Given the description of an element on the screen output the (x, y) to click on. 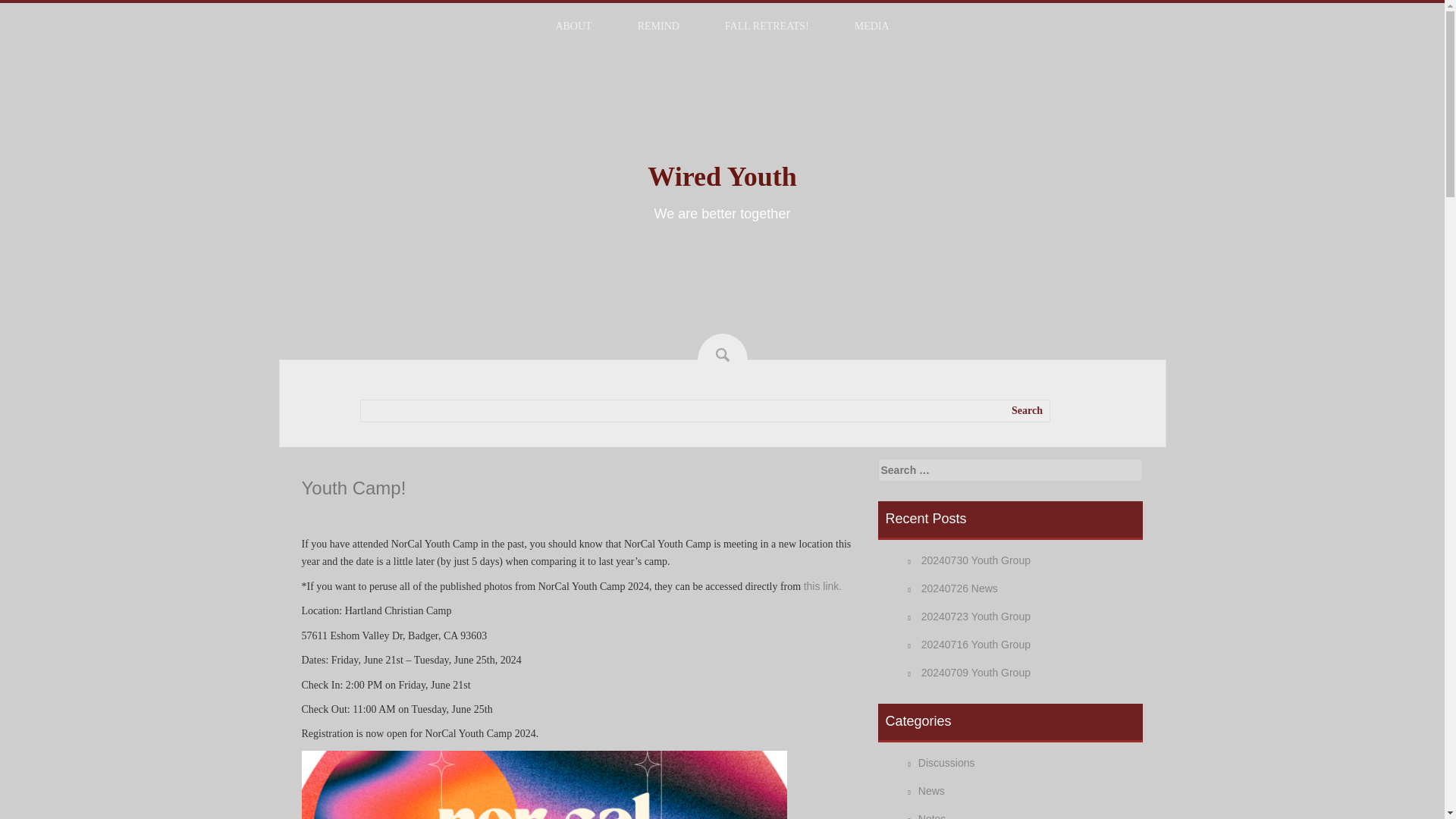
20240723 Youth Group (975, 616)
Search (1026, 410)
Search (15, 6)
FALL RETREATS! (767, 26)
News (931, 790)
Wired Youth (721, 176)
20240709 Youth Group (975, 672)
Notes (932, 816)
Discussions (946, 762)
MEDIA (871, 26)
20240716 Youth Group (975, 644)
20240726 News (959, 588)
20240730 Youth Group (975, 560)
REMIND (658, 26)
ABOUT (572, 26)
